Given the description of an element on the screen output the (x, y) to click on. 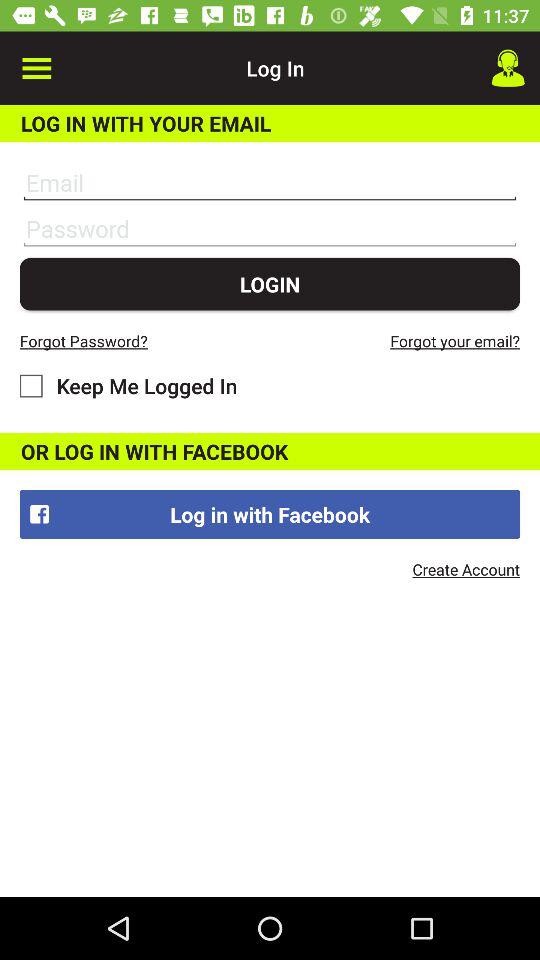
launch create account item (466, 569)
